Given the description of an element on the screen output the (x, y) to click on. 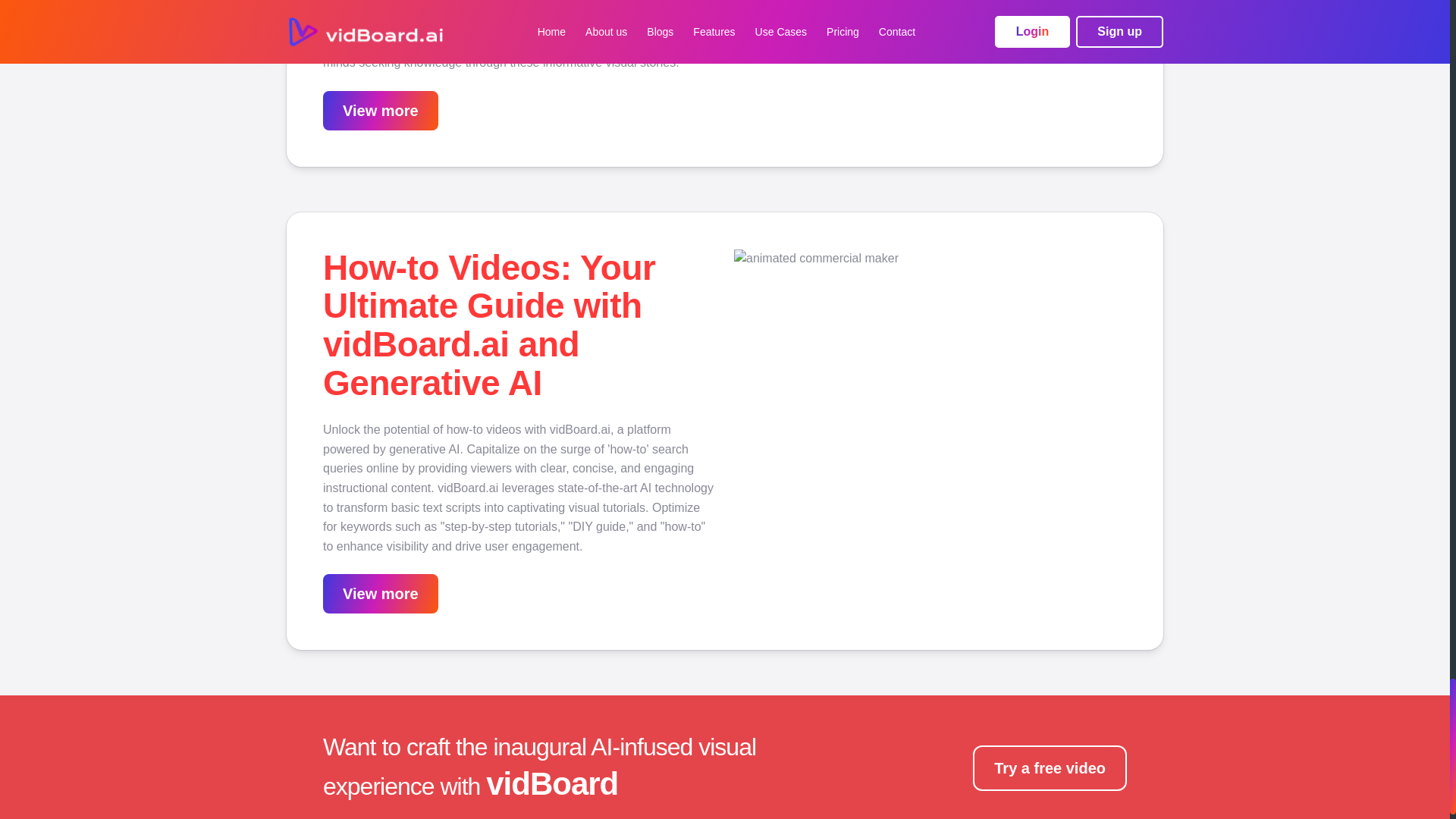
View more (380, 593)
View more (380, 594)
View more (380, 111)
Try a free video (1049, 768)
View more (380, 110)
